Given the description of an element on the screen output the (x, y) to click on. 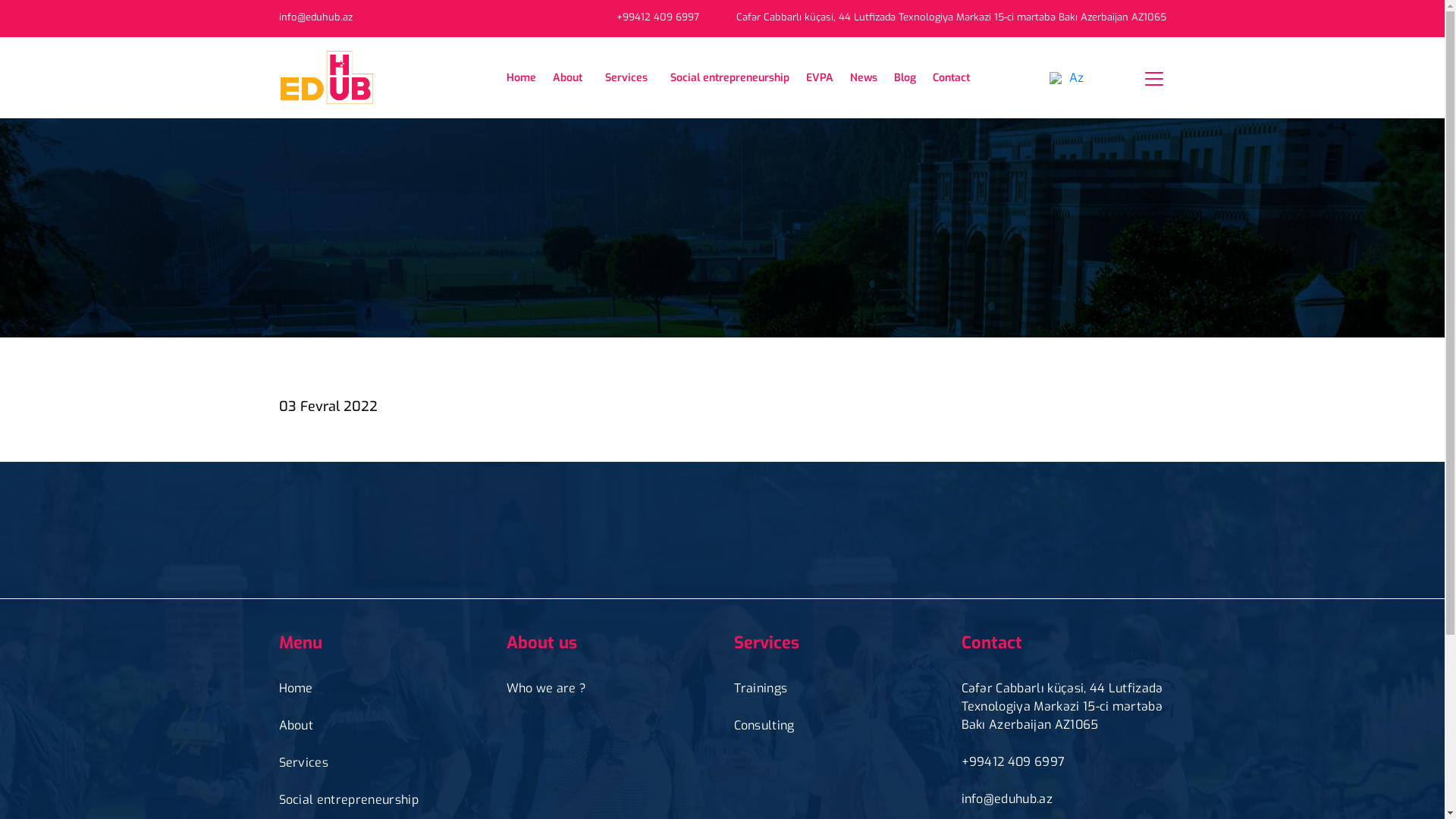
About Element type: text (296, 725)
Services Element type: text (304, 762)
Services Element type: text (629, 77)
info@eduhub.az Element type: text (1006, 799)
Consulting Element type: text (764, 725)
Blog Element type: text (904, 77)
Trainings Element type: text (760, 688)
About Element type: text (569, 77)
Home Element type: text (521, 77)
News Element type: text (862, 77)
+99412 409 6997 Element type: text (1013, 762)
Home Element type: text (296, 688)
Social entrepreneurship Element type: text (348, 799)
03 Fevral 2022 Element type: text (328, 406)
info@eduhub.az Element type: text (315, 17)
Social entrepreneurship Element type: text (729, 77)
Contact Element type: text (950, 77)
Who we are ? Element type: text (546, 688)
+99412 409 6997 Element type: text (656, 17)
EVPA Element type: text (818, 77)
Az Element type: text (1101, 77)
